Given the description of an element on the screen output the (x, y) to click on. 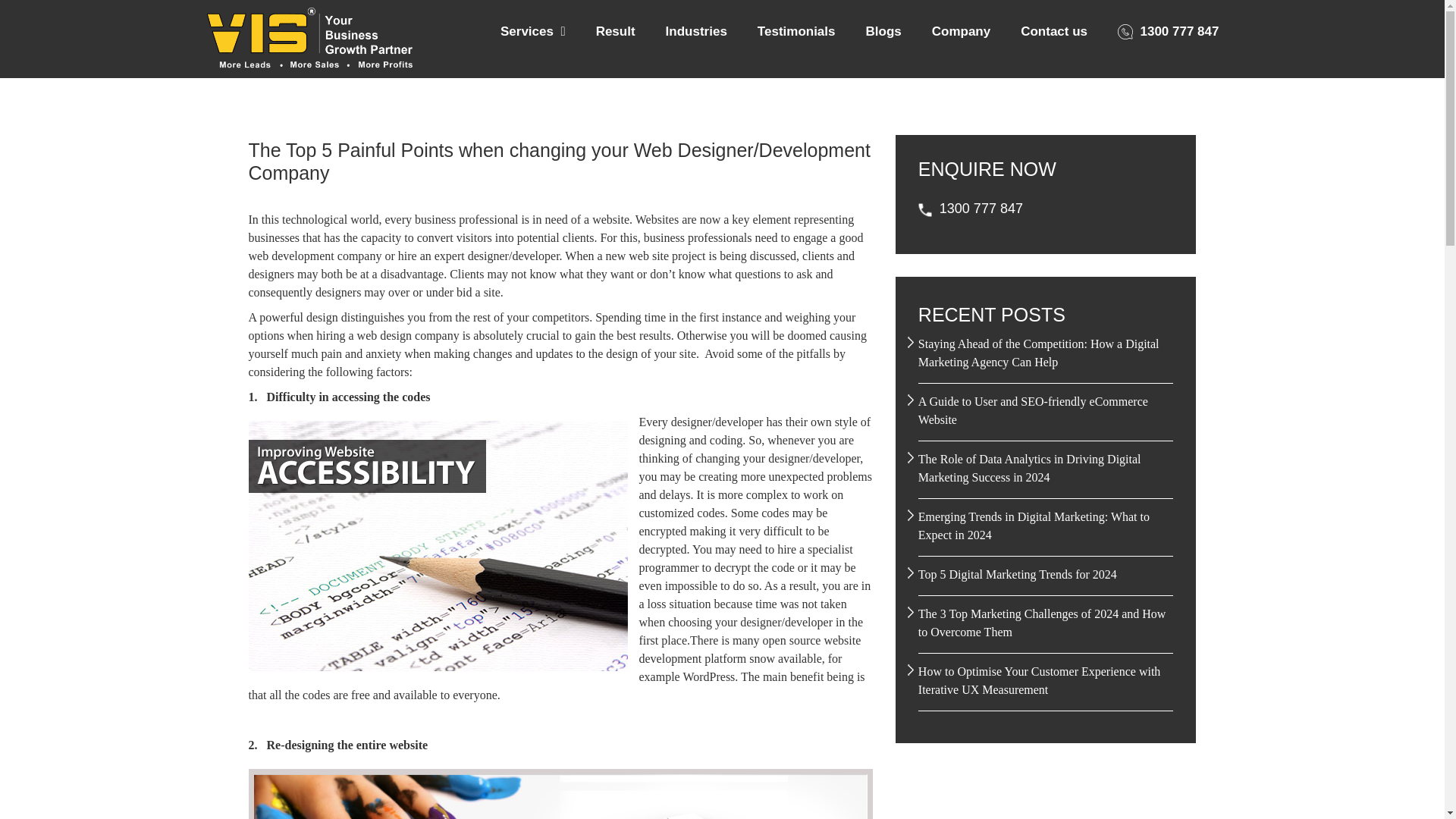
Services   (532, 31)
Blogs (882, 31)
Result (615, 31)
Company (960, 31)
Industries (695, 31)
Contact us (1054, 31)
  1300 777 847 (1168, 31)
Testimonials (796, 31)
